Given the description of an element on the screen output the (x, y) to click on. 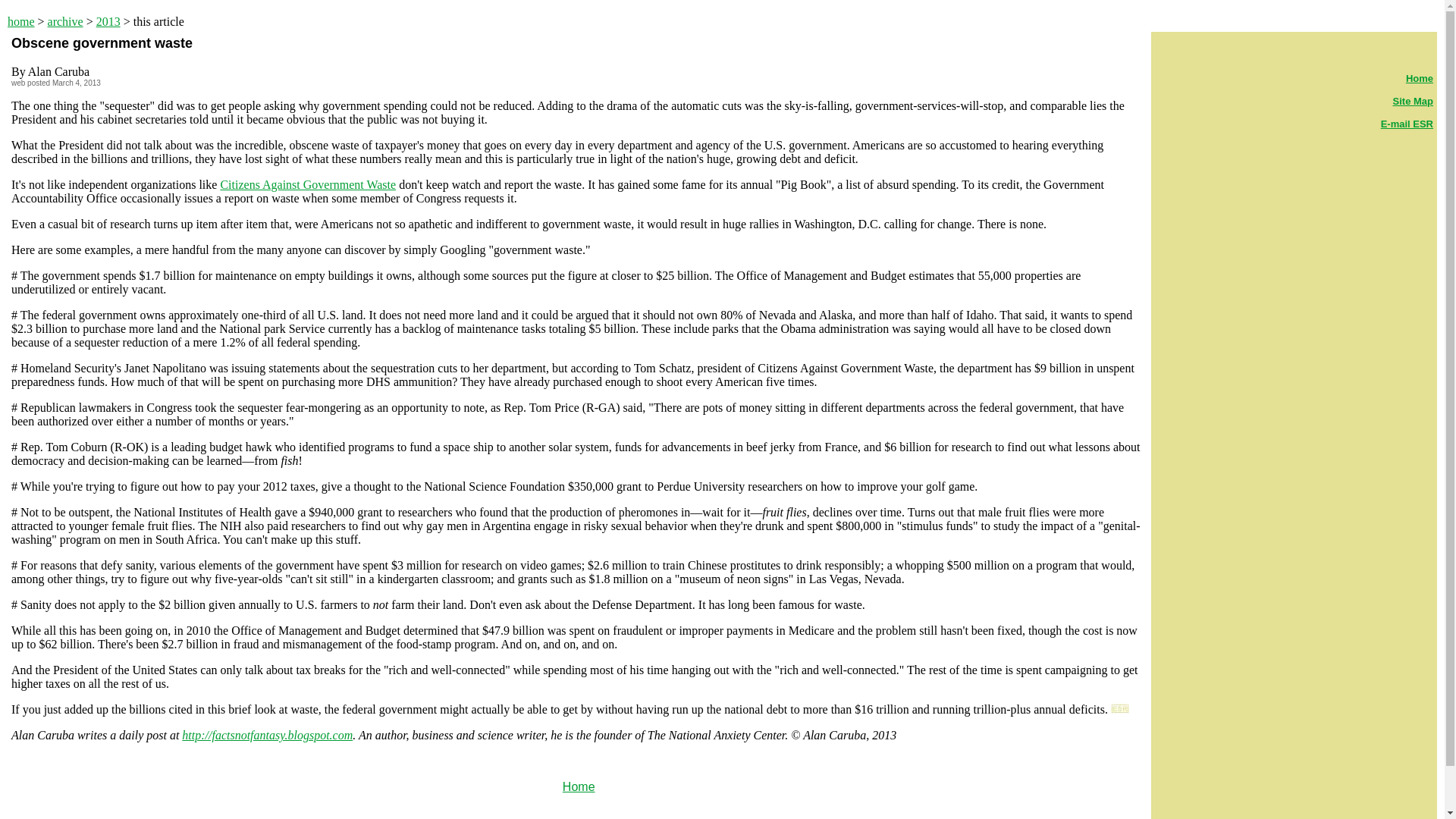
Citizens Against Government Waste (307, 184)
archive (65, 21)
Home (1419, 78)
home (20, 21)
E-mail ESR (1406, 123)
Site Map (1412, 101)
2013 (108, 21)
Home (578, 786)
